Given the description of an element on the screen output the (x, y) to click on. 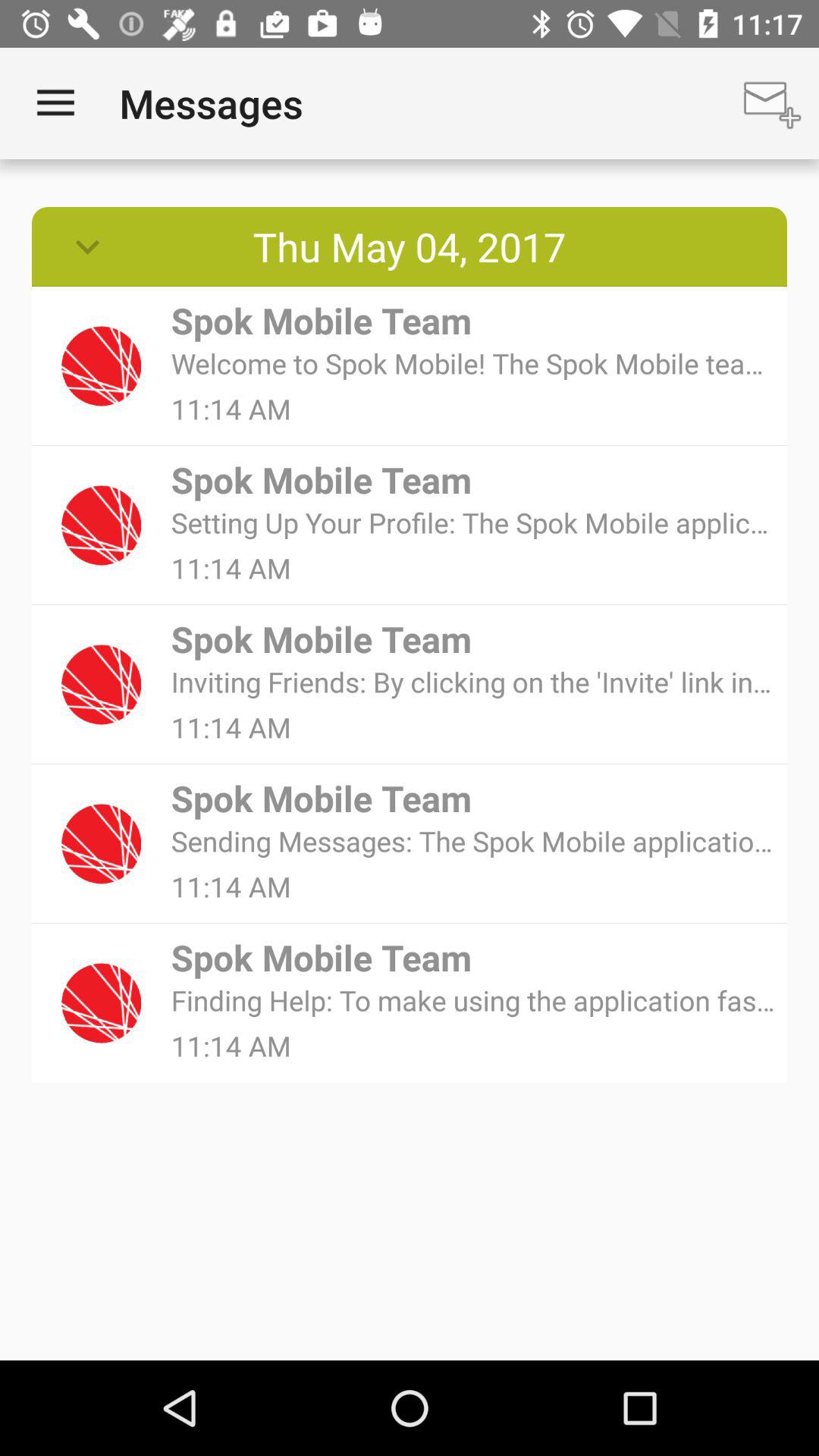
press the setting up your (473, 522)
